Given the description of an element on the screen output the (x, y) to click on. 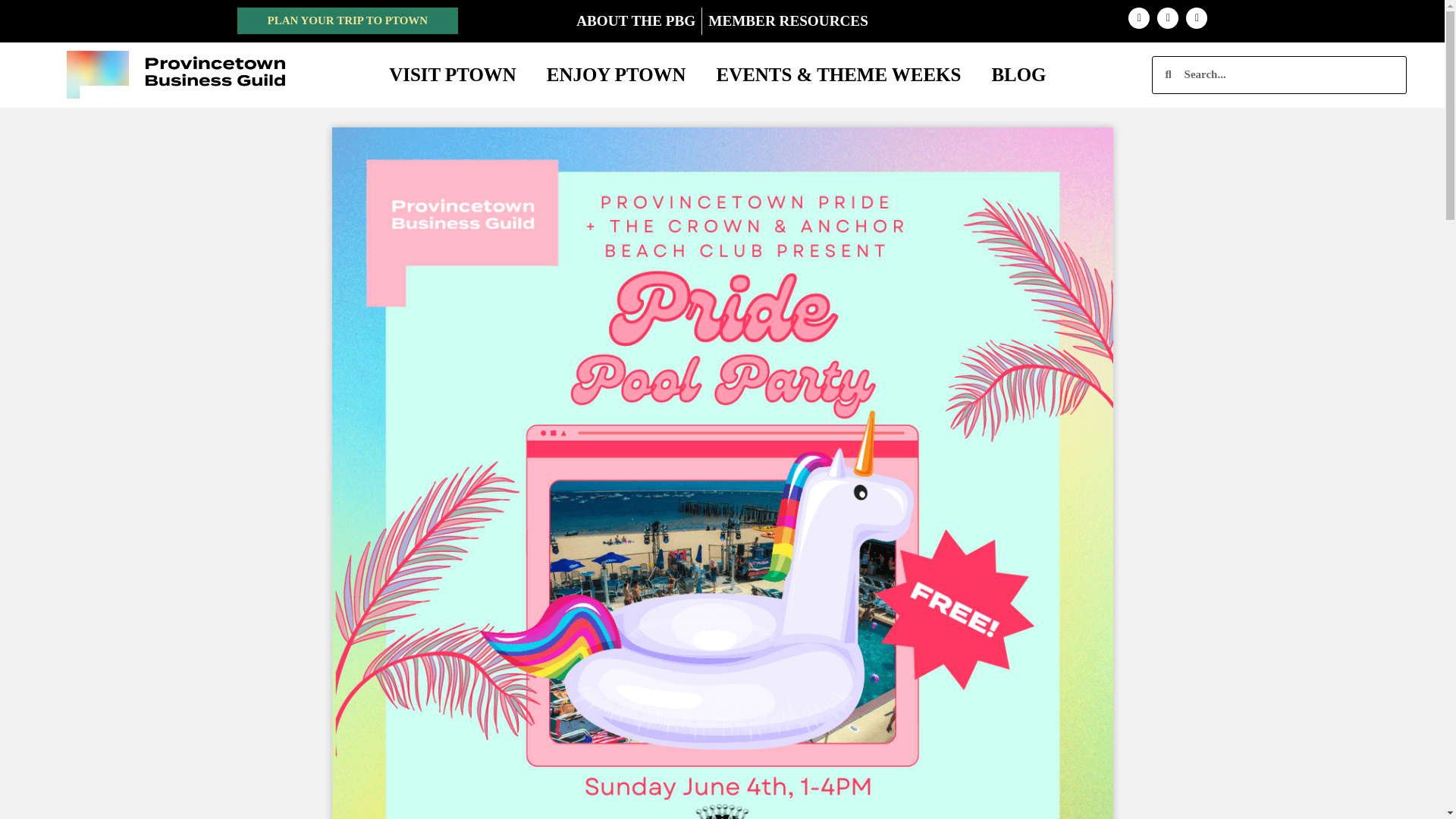
ENJOY PTOWN (616, 74)
Facebook (1167, 17)
PLAN YOUR TRIP TO PTOWN (346, 20)
Envelope (1196, 17)
VISIT PTOWN (452, 74)
Instagram (1139, 17)
BLOG (1018, 74)
MEMBER RESOURCES (787, 21)
ABOUT THE PBG (635, 21)
